Given the description of an element on the screen output the (x, y) to click on. 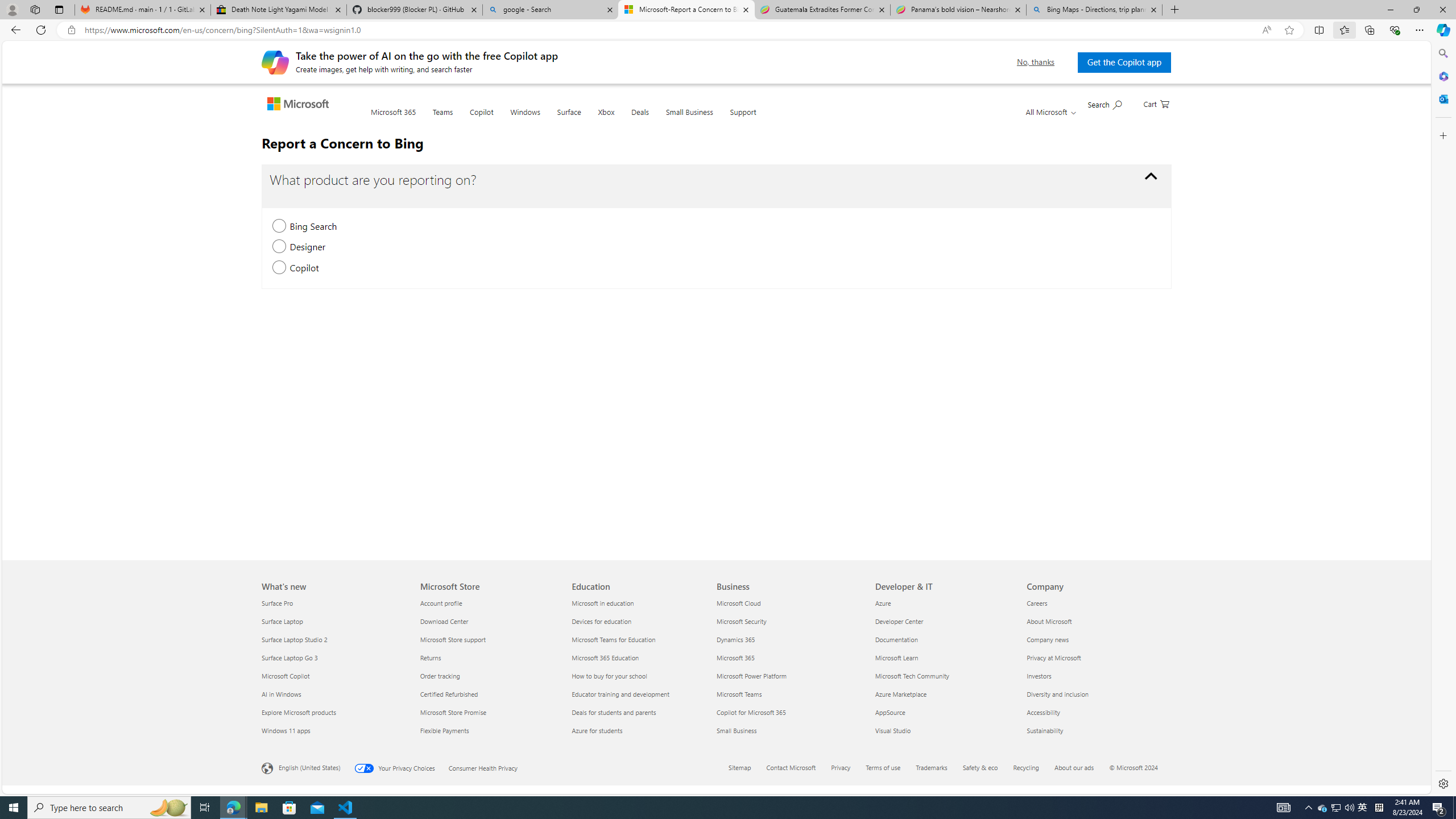
Microsoft Teams for Education Education (613, 638)
Microsoft Security (788, 620)
About Microsoft (1095, 620)
Accessibility (1095, 711)
Teams (442, 118)
Microsoft 365 (1442, 76)
Deals (639, 118)
Order tracking (489, 675)
Azure for students (641, 730)
Developer Center (944, 620)
Microsoft Learn (944, 657)
How to buy for your school Education (609, 675)
